Given the description of an element on the screen output the (x, y) to click on. 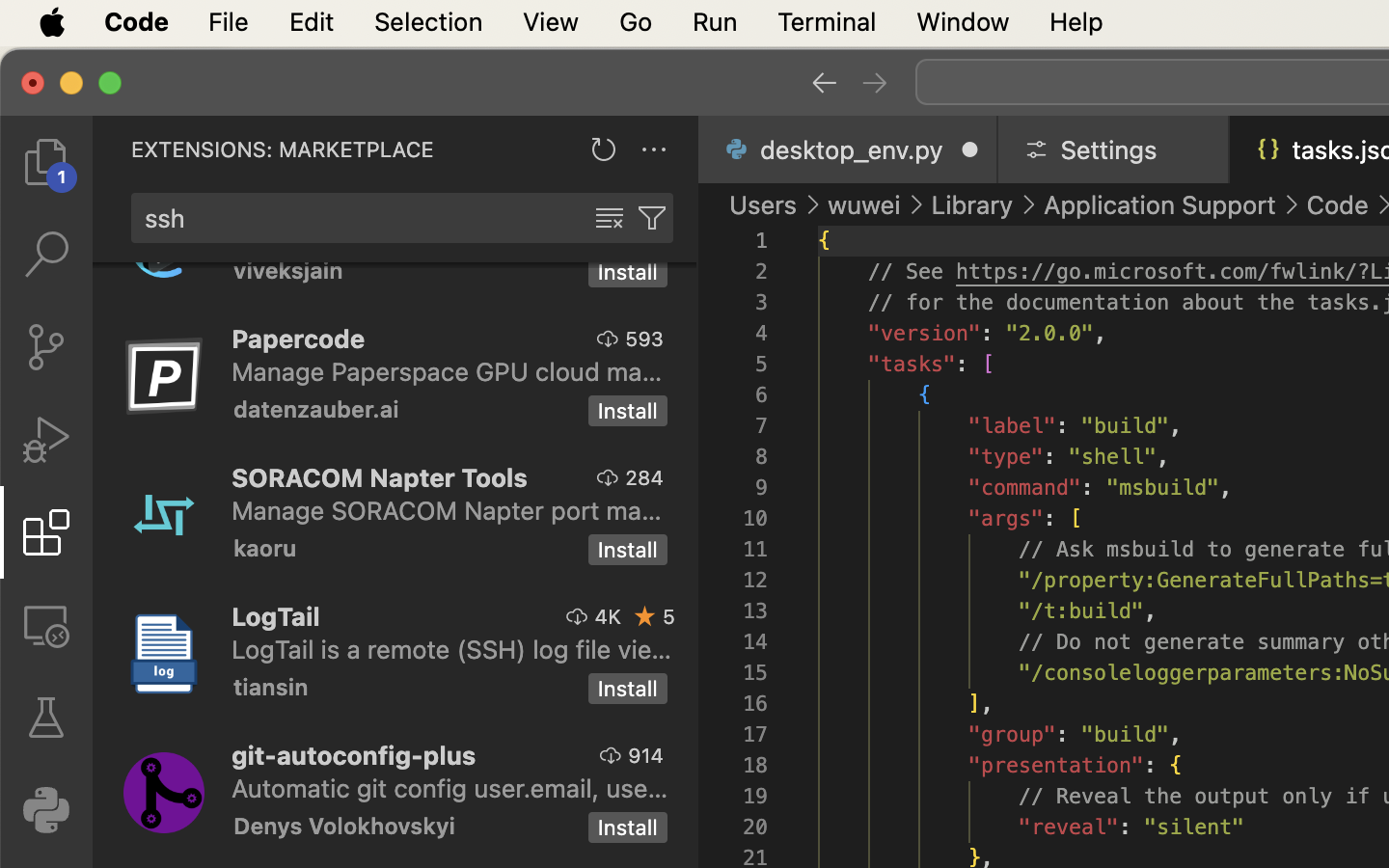
 Element type: AXStaticText (644, 615)
kaoru Element type: AXStaticText (265, 547)
0  Element type: AXRadioButton (46, 346)
0 desktop_env.py   Element type: AXRadioButton (848, 149)
 Element type: AXButton (874, 82)
